Given the description of an element on the screen output the (x, y) to click on. 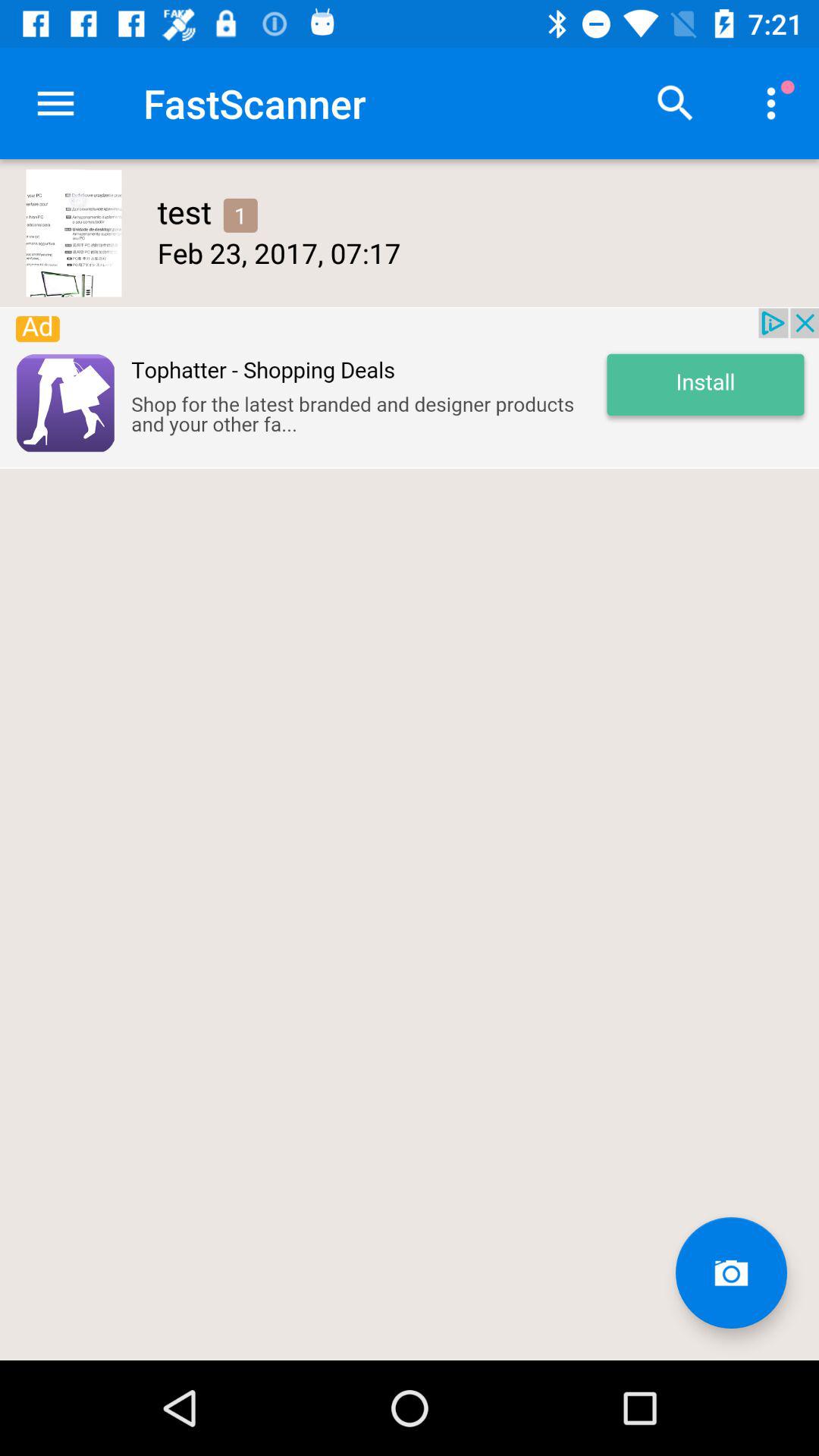
search of the app (675, 103)
